Given the description of an element on the screen output the (x, y) to click on. 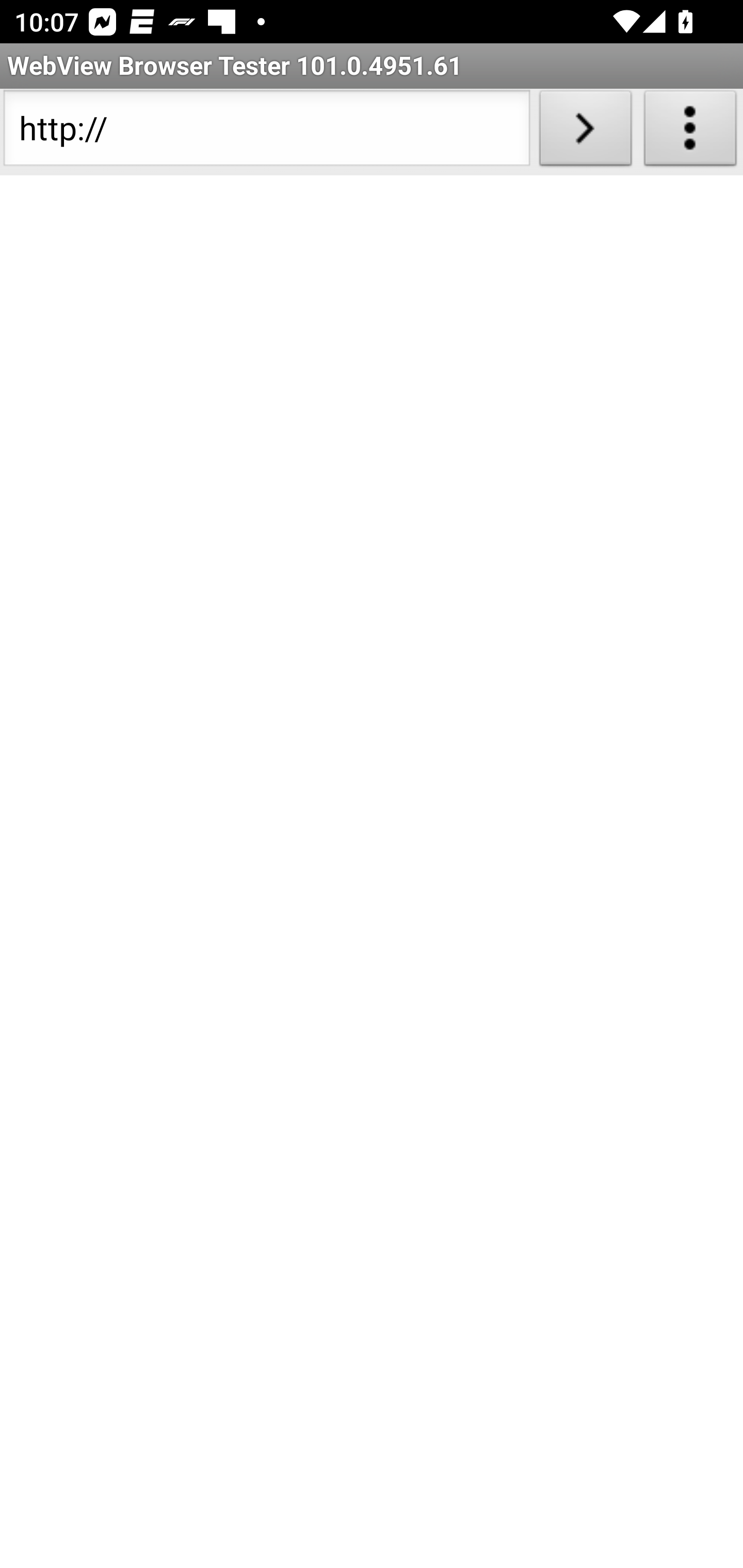
http:// (266, 132)
Load URL (585, 132)
About WebView (690, 132)
